Given the description of an element on the screen output the (x, y) to click on. 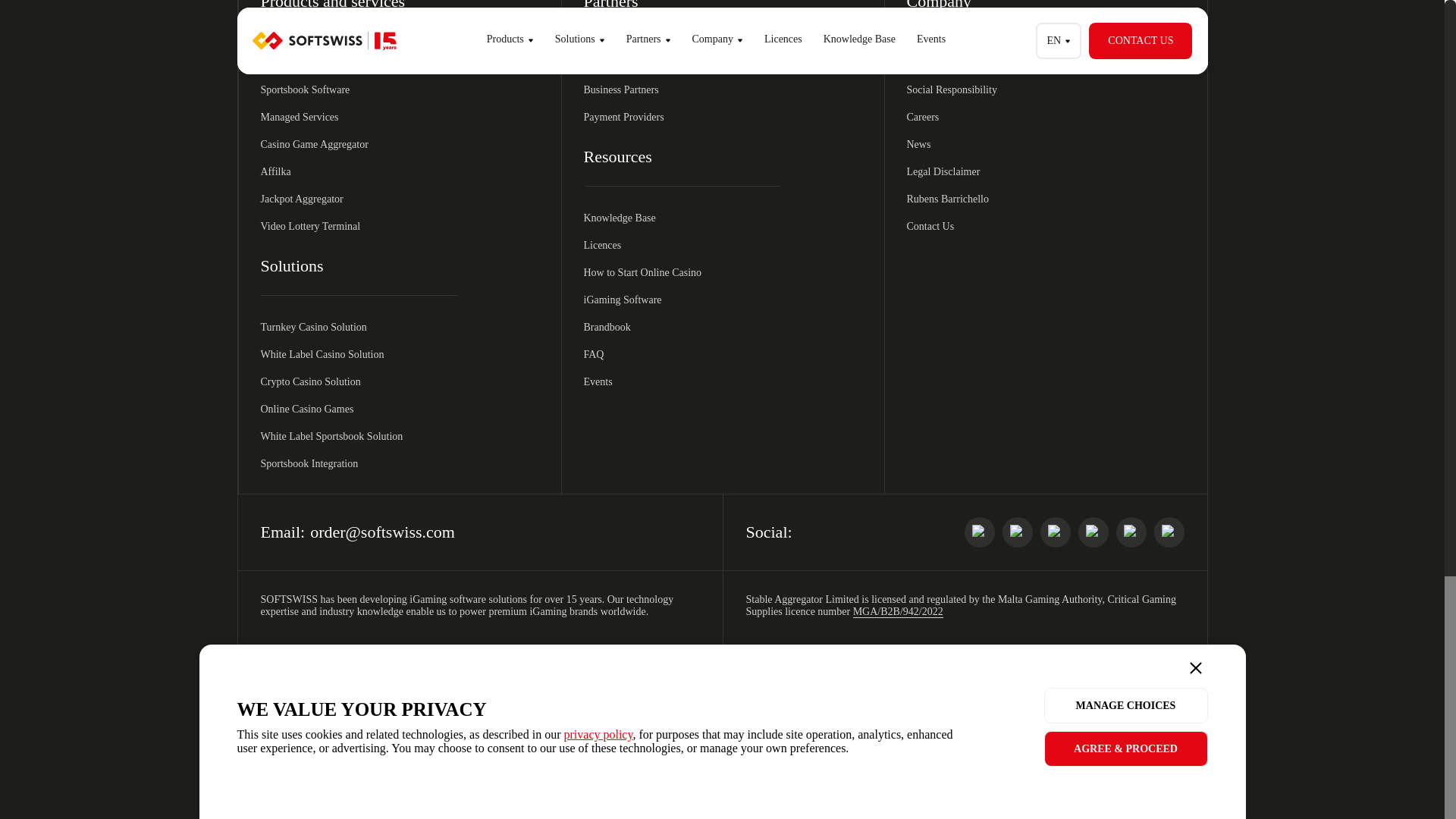
Instagram (1093, 531)
Linkedin (978, 531)
Youtube (1055, 531)
Facebook (1017, 531)
Twitter (1131, 531)
Medium (1169, 531)
